Given the description of an element on the screen output the (x, y) to click on. 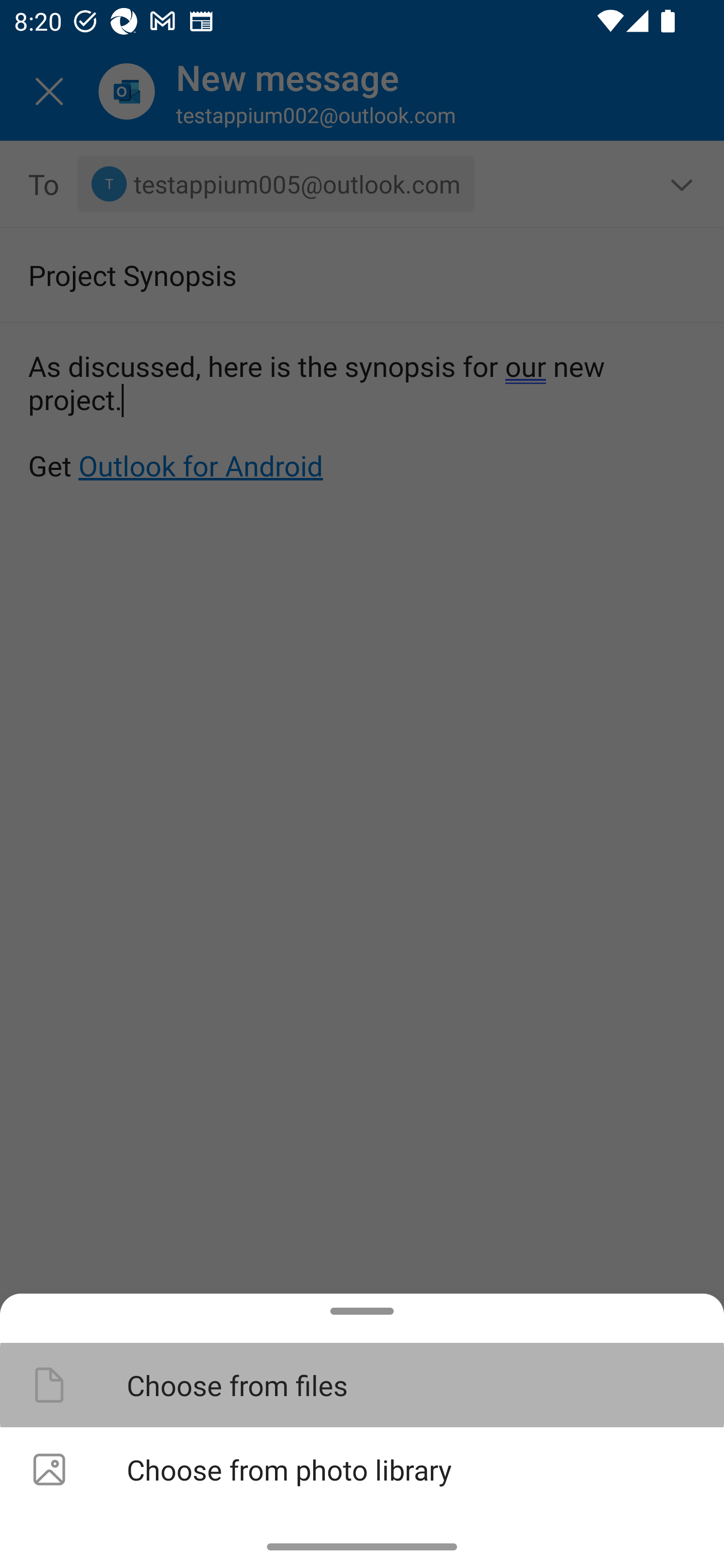
Choose from files (362, 1384)
Choose from photo library (362, 1468)
